Given the description of an element on the screen output the (x, y) to click on. 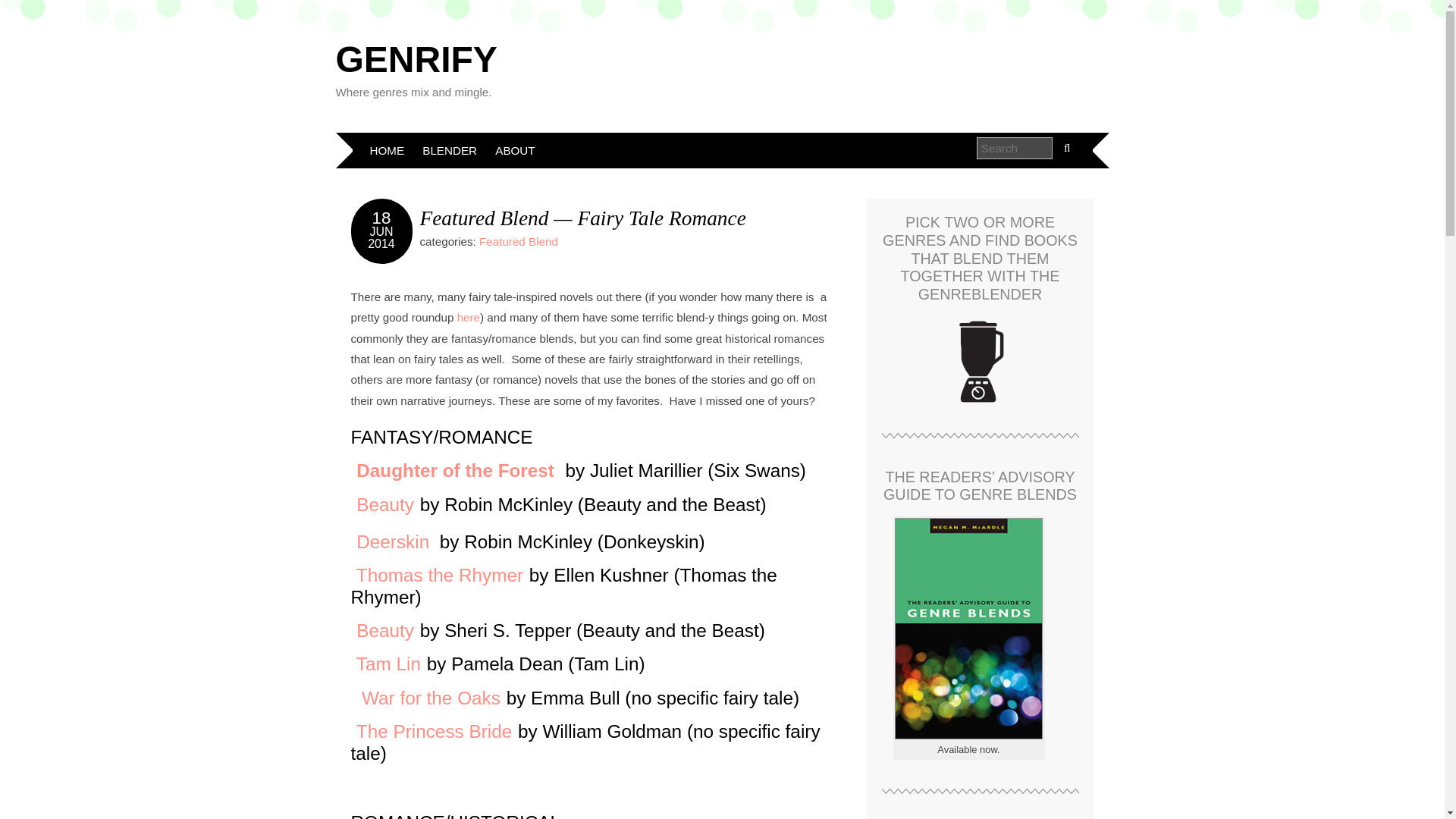
The Princess Bride (434, 731)
SFF Book Review (468, 317)
Beauty (384, 504)
GENRIFY (415, 59)
Thomas the Rhymer (439, 575)
HOME (387, 150)
18 (381, 217)
Featured Blend (518, 241)
Tam Lin (388, 663)
Beauty (384, 629)
War for the Oaks (430, 697)
here (468, 317)
Deerskin (394, 541)
BLENDER (449, 150)
ABOUT (514, 150)
